Given the description of an element on the screen output the (x, y) to click on. 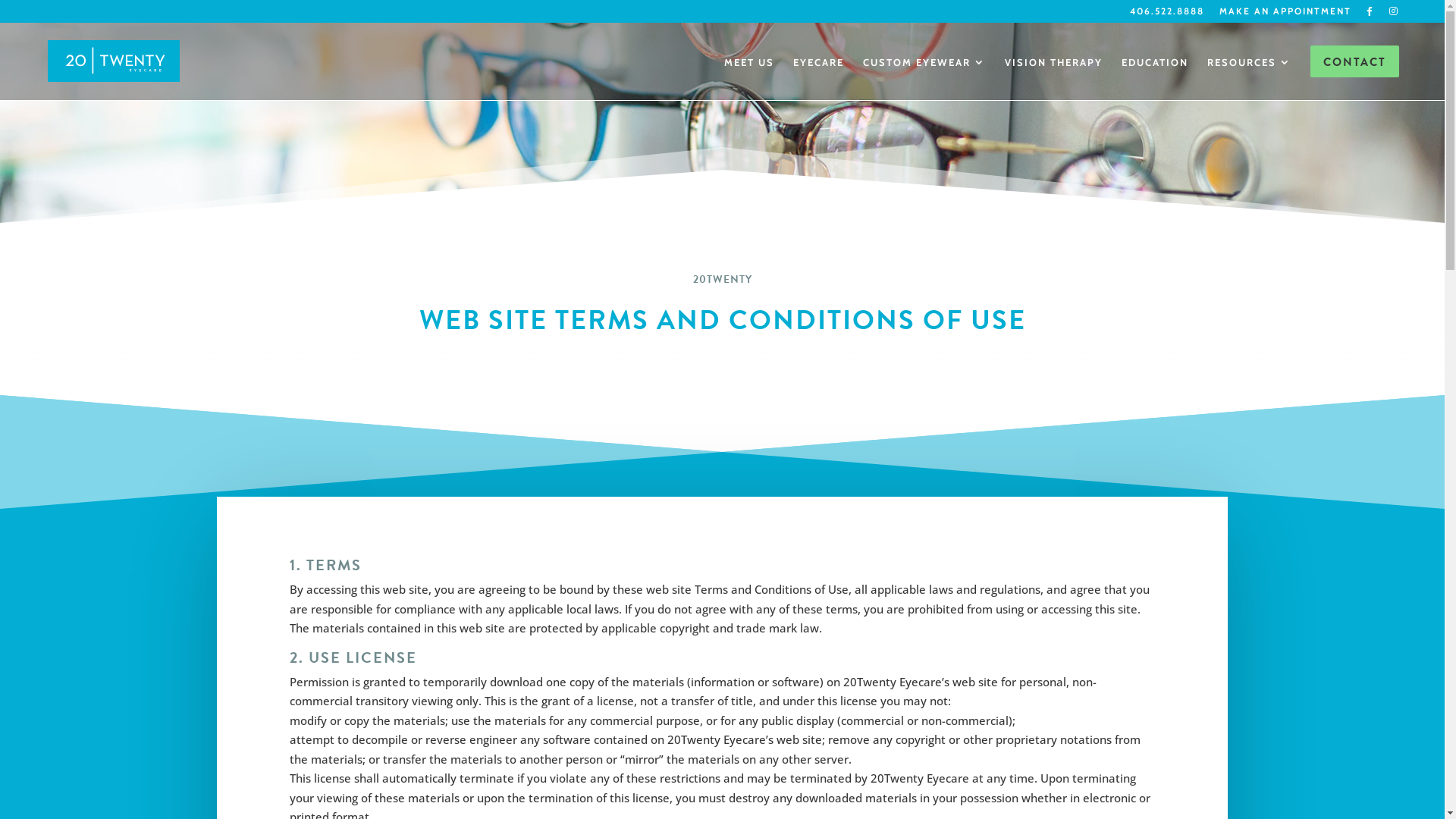
MEET US Element type: text (749, 72)
EYECARE Element type: text (818, 72)
EDUCATION Element type: text (1154, 72)
RESOURCES Element type: text (1249, 72)
CUSTOM EYEWEAR Element type: text (923, 72)
CONTACT Element type: text (1354, 72)
VISION THERAPY Element type: text (1053, 72)
406.522.8888 Element type: text (1166, 14)
MAKE AN APPOINTMENT Element type: text (1285, 14)
